Given the description of an element on the screen output the (x, y) to click on. 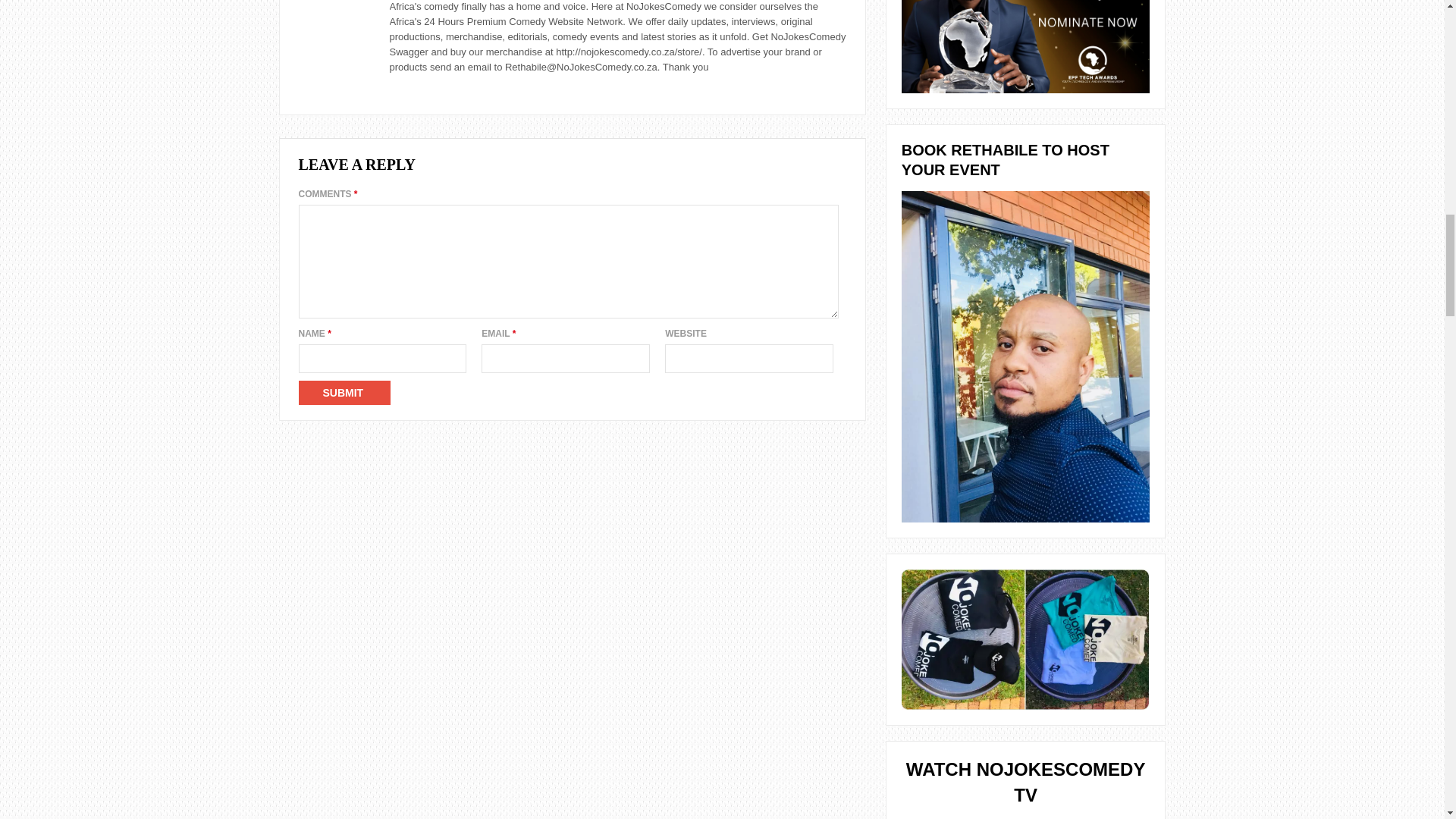
Submit  (344, 392)
Submit  (344, 392)
